Given the description of an element on the screen output the (x, y) to click on. 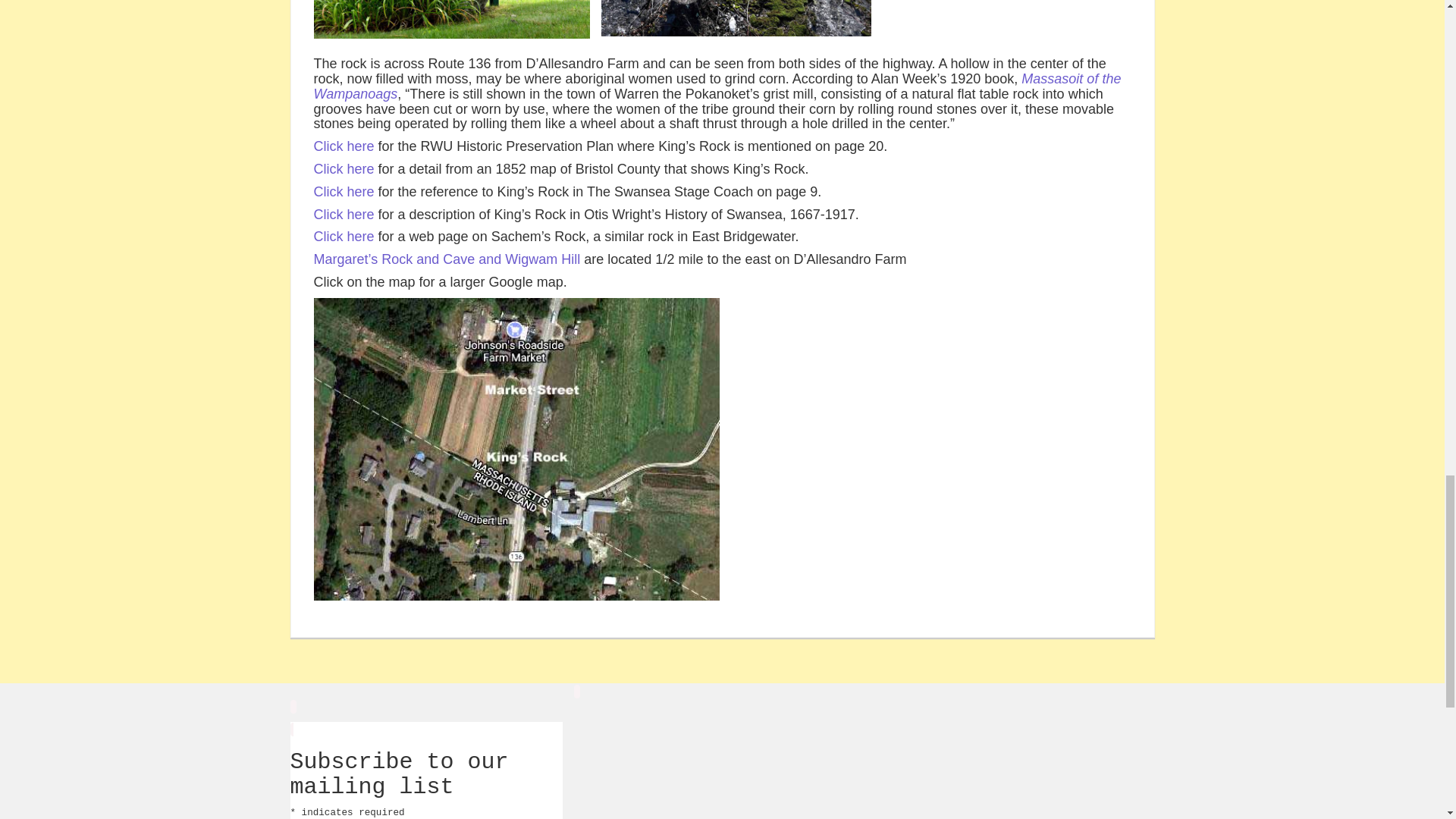
Click here (344, 236)
Click here (344, 145)
Massasoit of the Wampanoags (717, 86)
Click here (344, 214)
Click here (344, 168)
Click here (344, 191)
